Given the description of an element on the screen output the (x, y) to click on. 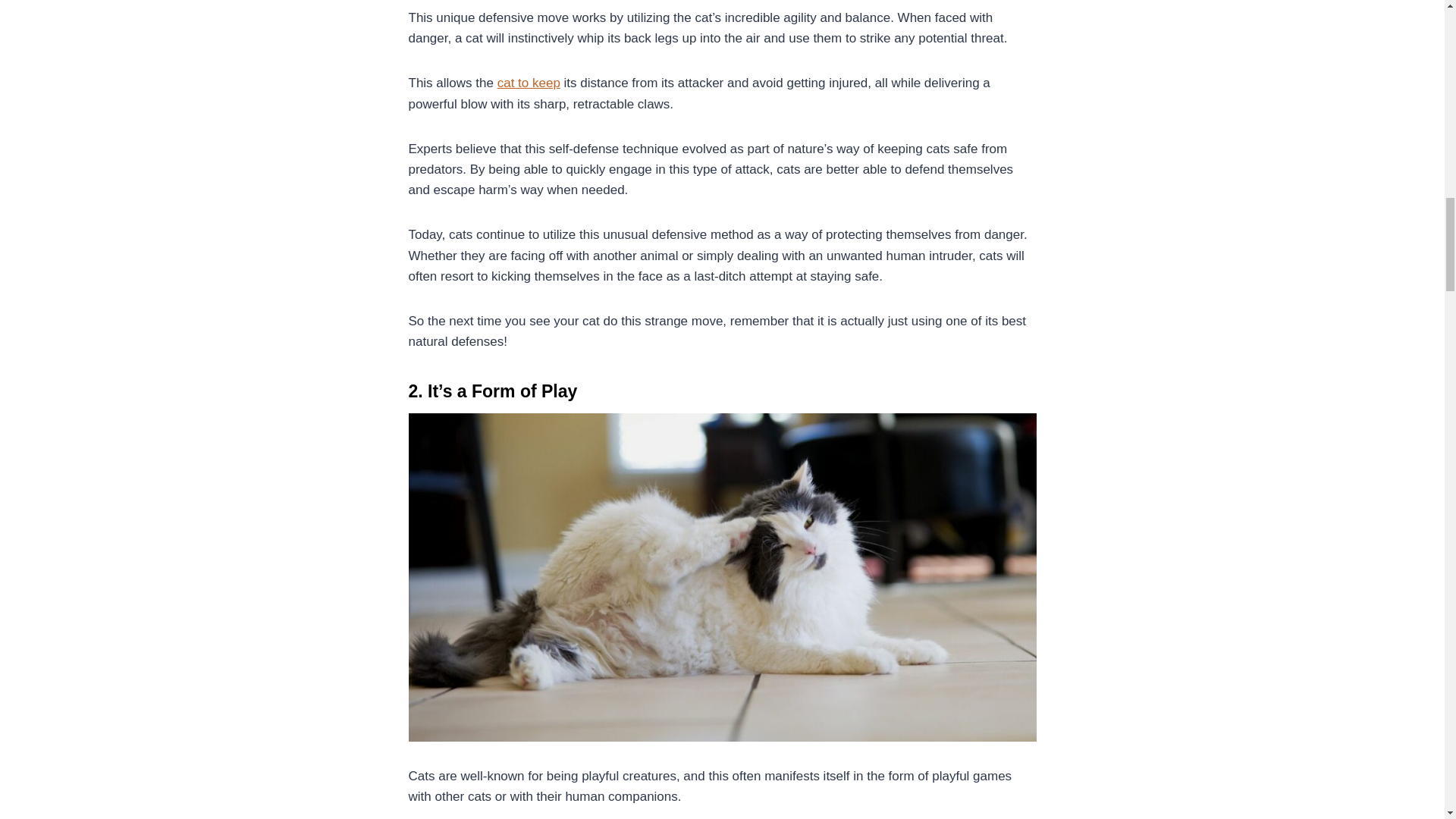
cat to keep (528, 83)
